Given the description of an element on the screen output the (x, y) to click on. 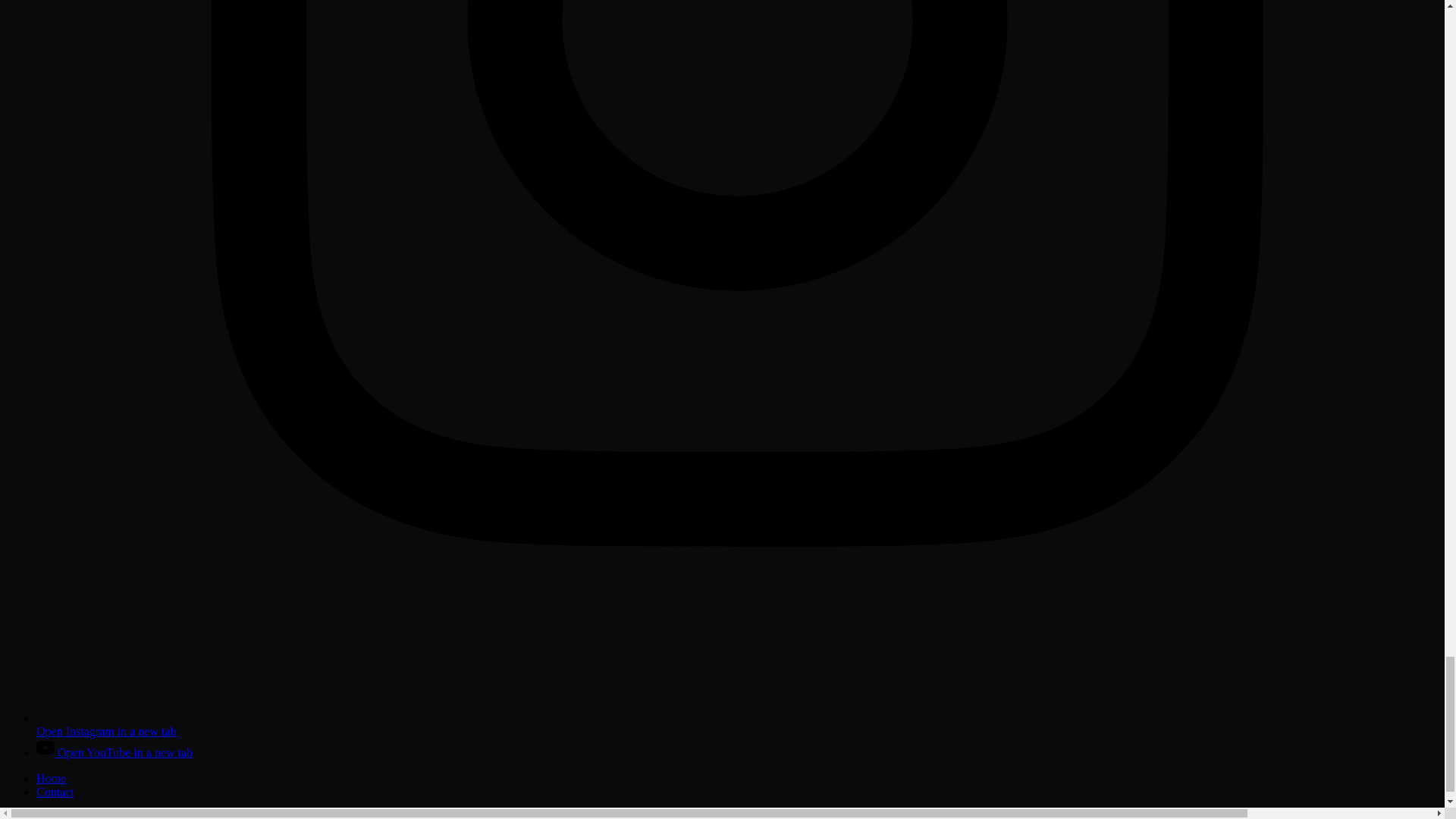
Open YouTube in a new tab (114, 752)
Home (50, 778)
Contact (55, 791)
Open Instagram in a new tab (737, 724)
